Given the description of an element on the screen output the (x, y) to click on. 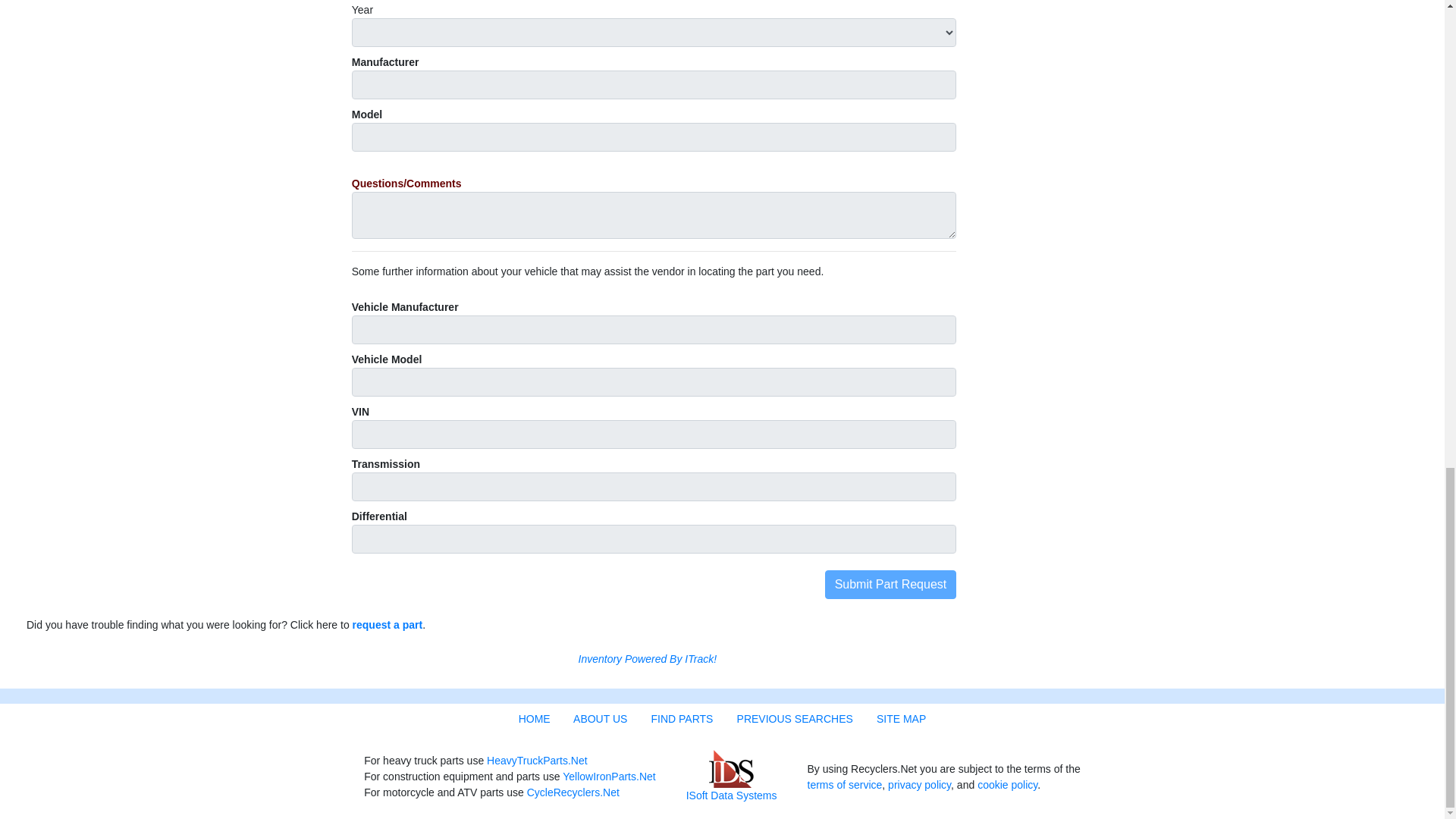
PREVIOUS SEARCHES (794, 718)
SITE MAP (901, 718)
Inventory Powered By ITrack! (647, 658)
terms of service (844, 784)
ABOUT US (600, 718)
HOME (534, 718)
ISoft Data Systems (731, 795)
CycleRecyclers.Net (573, 792)
HeavyTruckParts.Net (537, 760)
ISoft Data Systems, Inc. (647, 658)
request a part (387, 624)
YellowIronParts.Net (608, 776)
FIND PARTS (681, 718)
Submit Part Request (890, 584)
cookie policy (1006, 784)
